Given the description of an element on the screen output the (x, y) to click on. 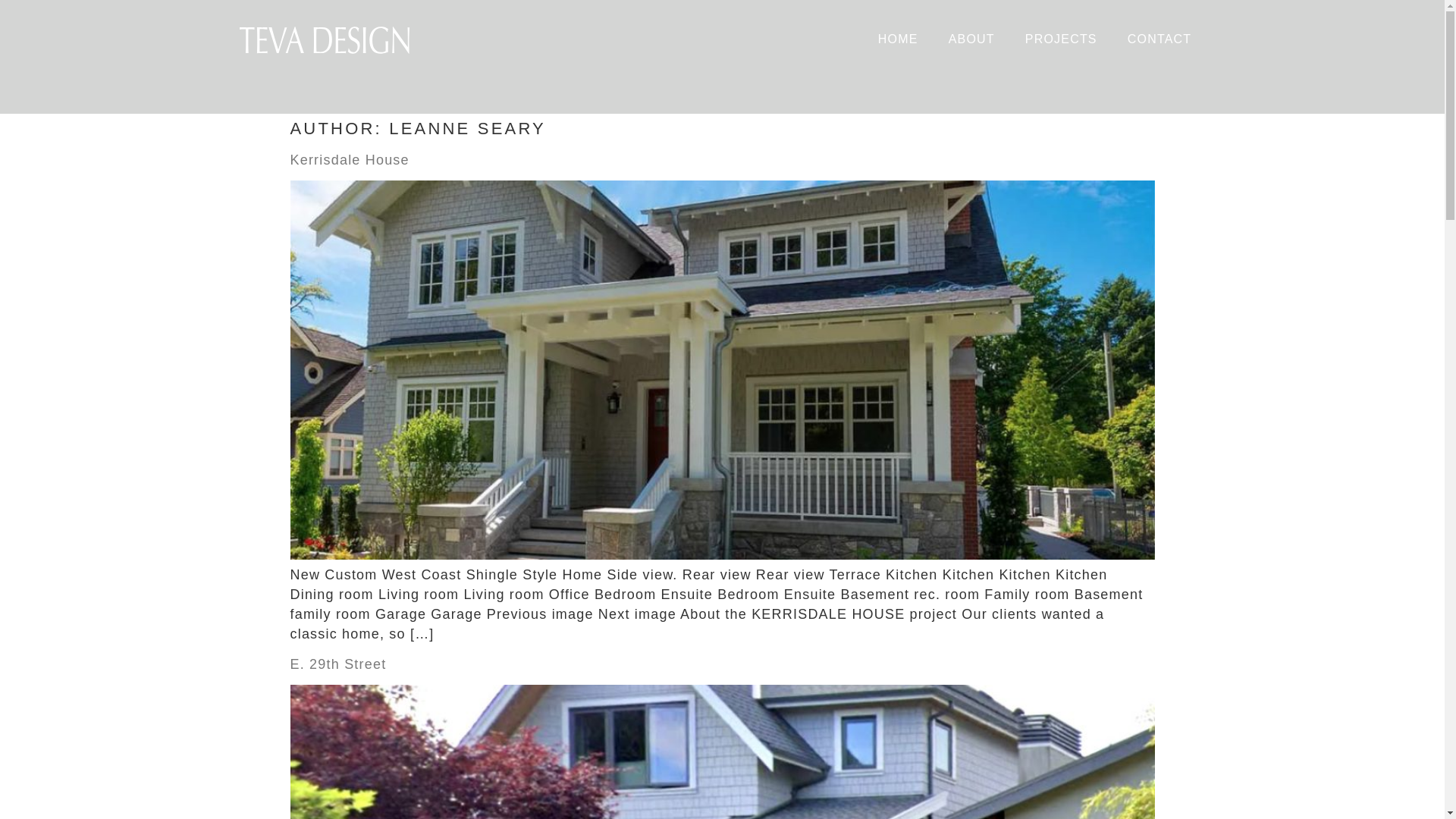
Kerrisdale House (349, 159)
CONTACT (1159, 39)
E. 29th Street (337, 663)
HOME (898, 39)
PROJECTS (1061, 39)
ABOUT (971, 39)
